Given the description of an element on the screen output the (x, y) to click on. 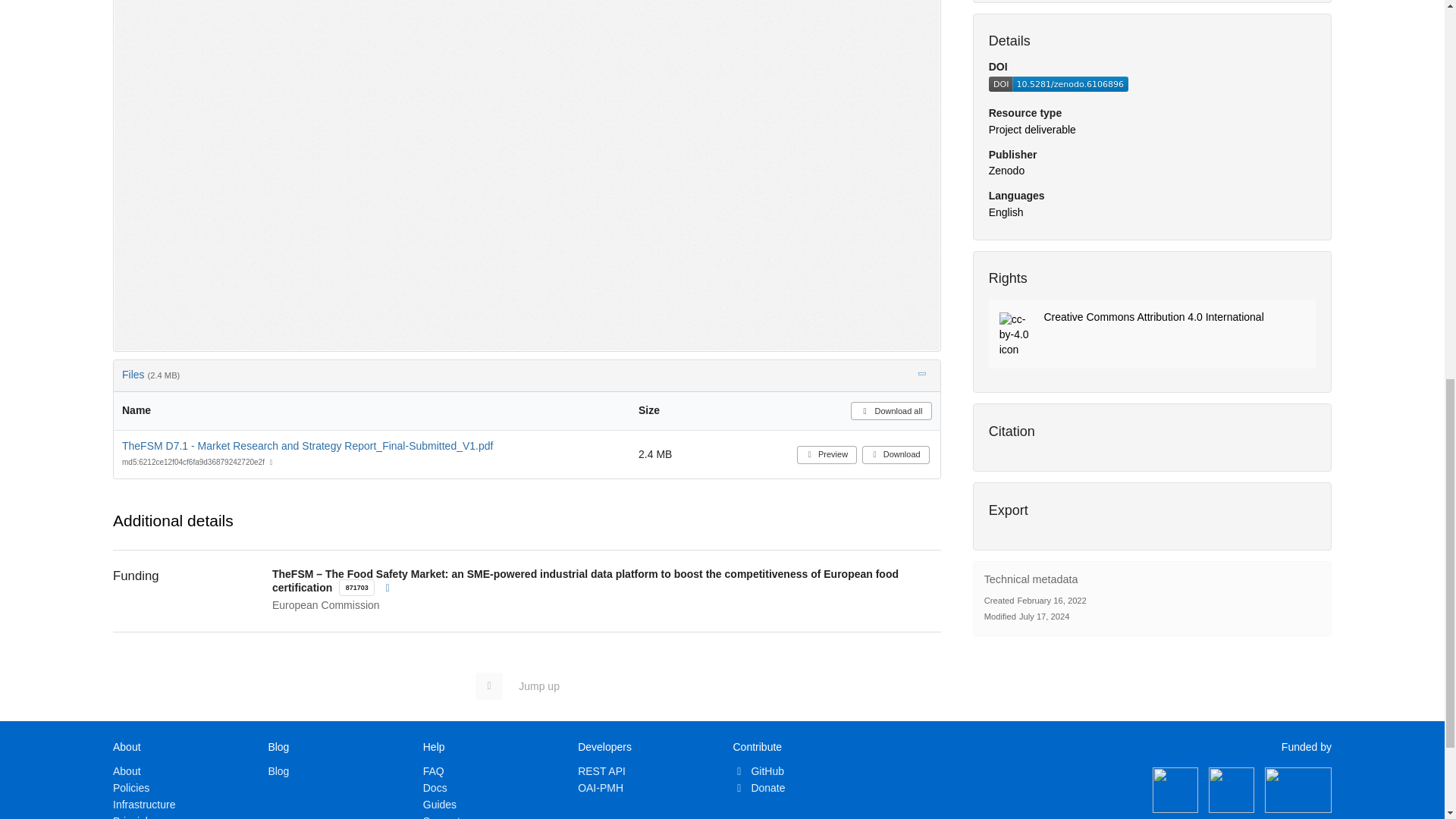
FAQ (433, 770)
Download (895, 454)
Principles (135, 816)
Docs (434, 787)
Blog (277, 770)
Policies (131, 787)
Guides (440, 804)
Get the DOI badge! (1058, 87)
Jump up (525, 686)
About (127, 770)
Download all (890, 411)
Preview (826, 454)
Infrastructure (143, 804)
